Given the description of an element on the screen output the (x, y) to click on. 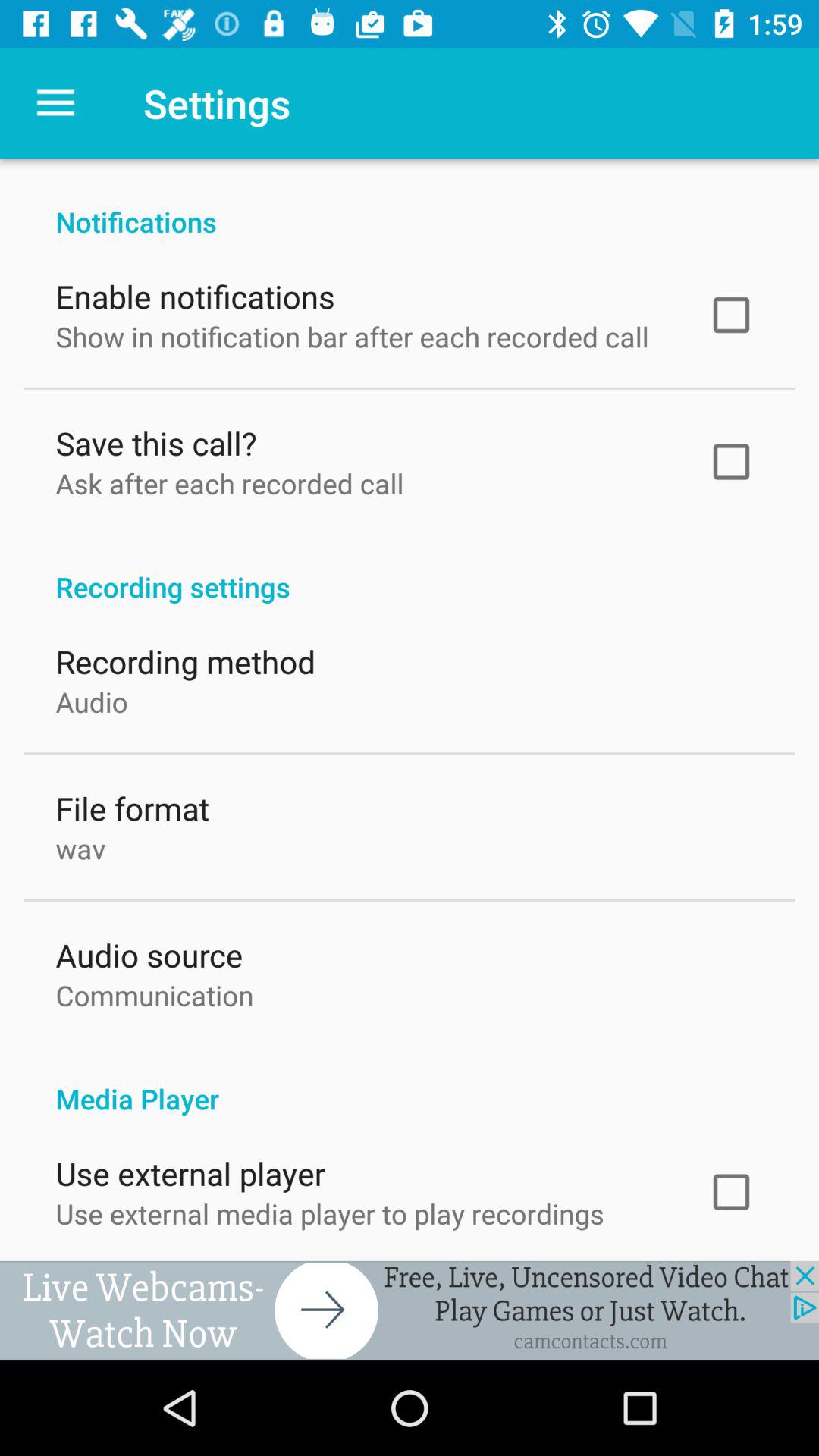
select the icon below the file format item (80, 844)
